Given the description of an element on the screen output the (x, y) to click on. 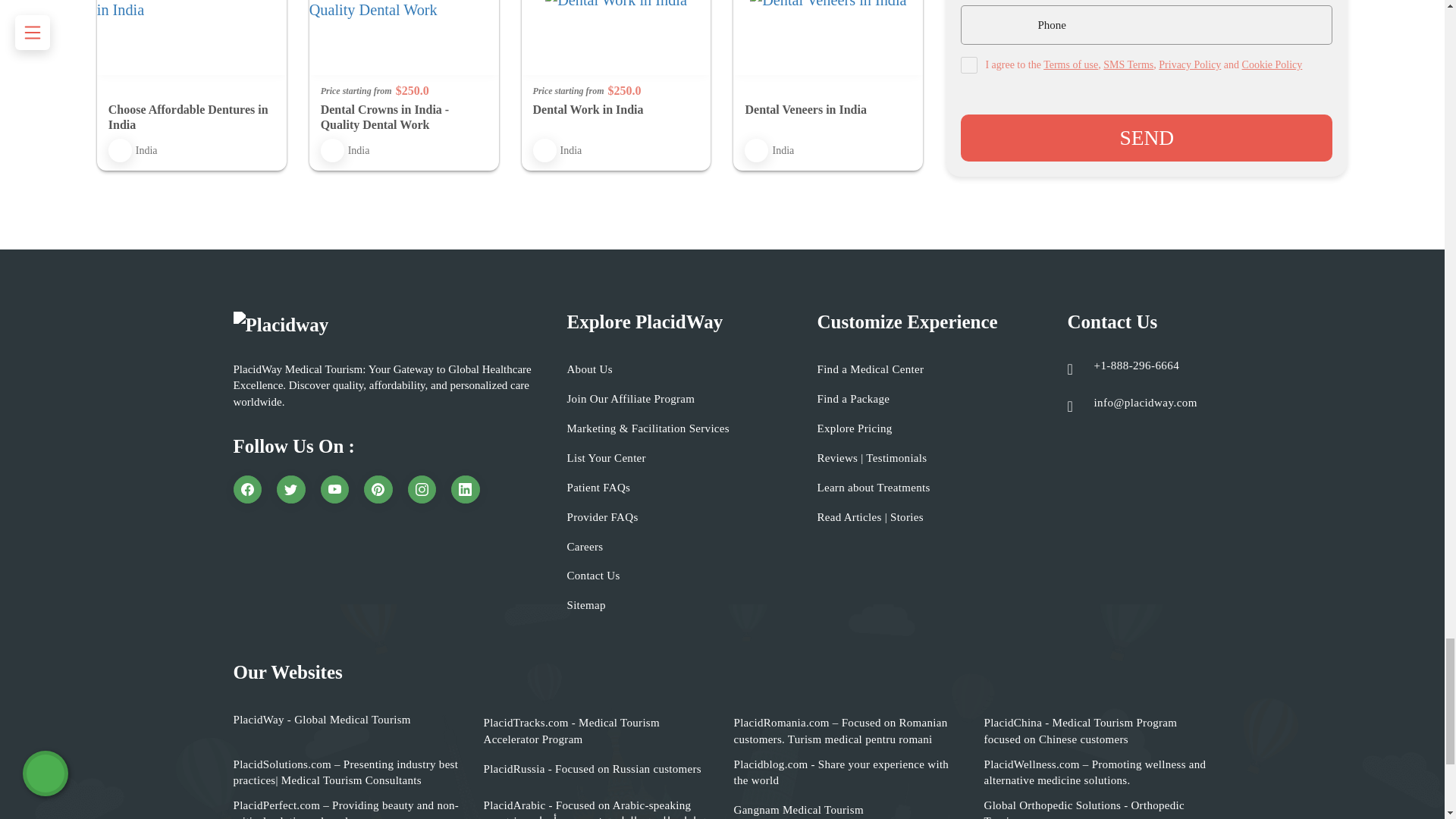
Placidblog.com - Share your experience with the world (846, 772)
Placidway's facebook Account (247, 489)
Placidway's Twitter Account (290, 489)
Placidway's Instagram Account (421, 489)
Gangnam Medical Tourism (798, 810)
PlacidRussia - Focused on Russian customers (592, 769)
PlacidWay - Global Medical Tourism (321, 719)
Global Orthopedic Solutions - Orthopedic Tourism (1097, 808)
Placidway's Pinterest Account (378, 489)
